Given the description of an element on the screen output the (x, y) to click on. 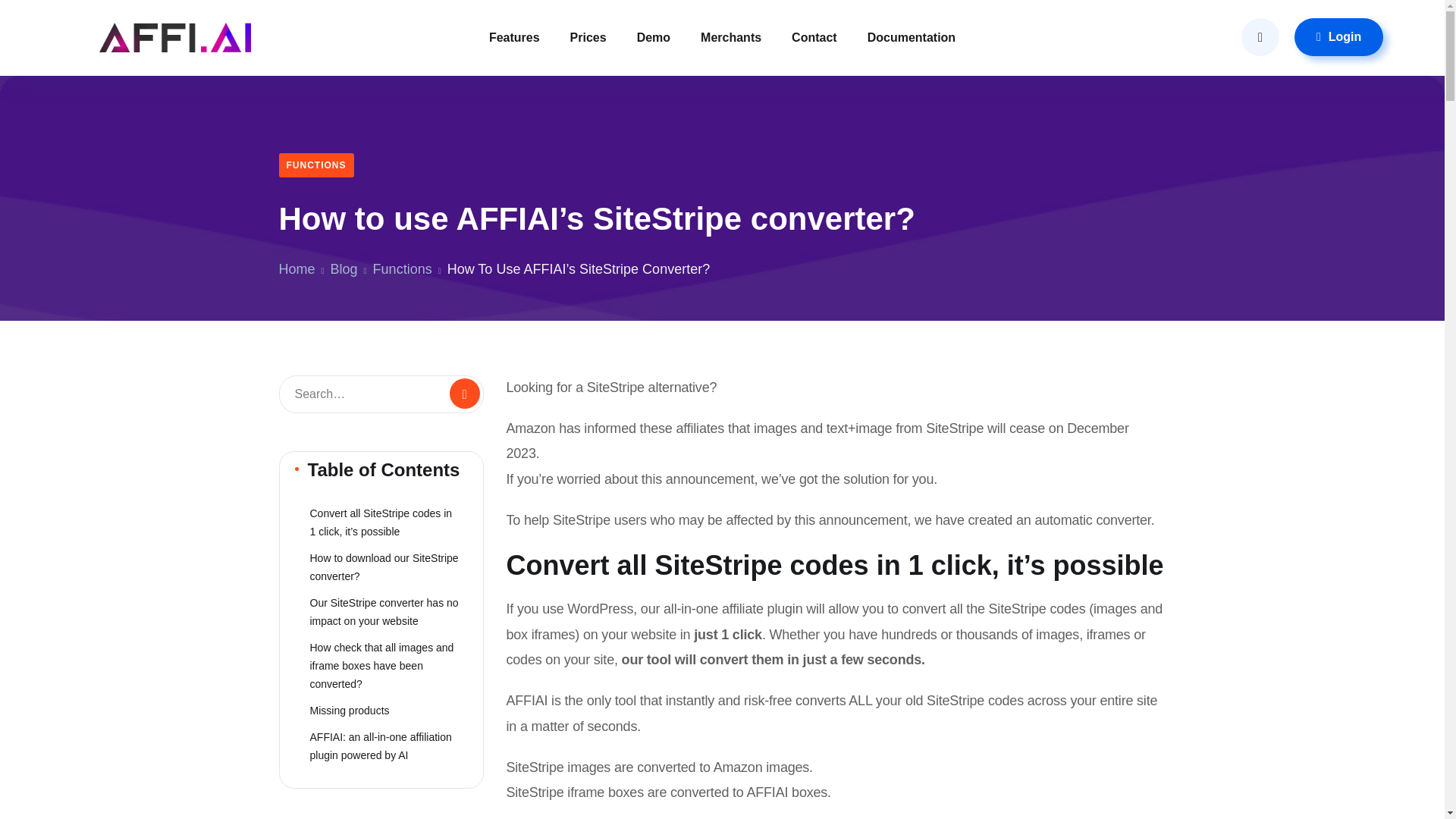
Functions (402, 268)
Contact (814, 37)
Documentation (911, 37)
Our SiteStripe converter has no impact on your website (380, 611)
Login (1338, 37)
Home (297, 268)
Blog (344, 268)
FUNCTIONS (316, 165)
Merchants (730, 37)
How to download our SiteStripe converter? (380, 566)
